Given the description of an element on the screen output the (x, y) to click on. 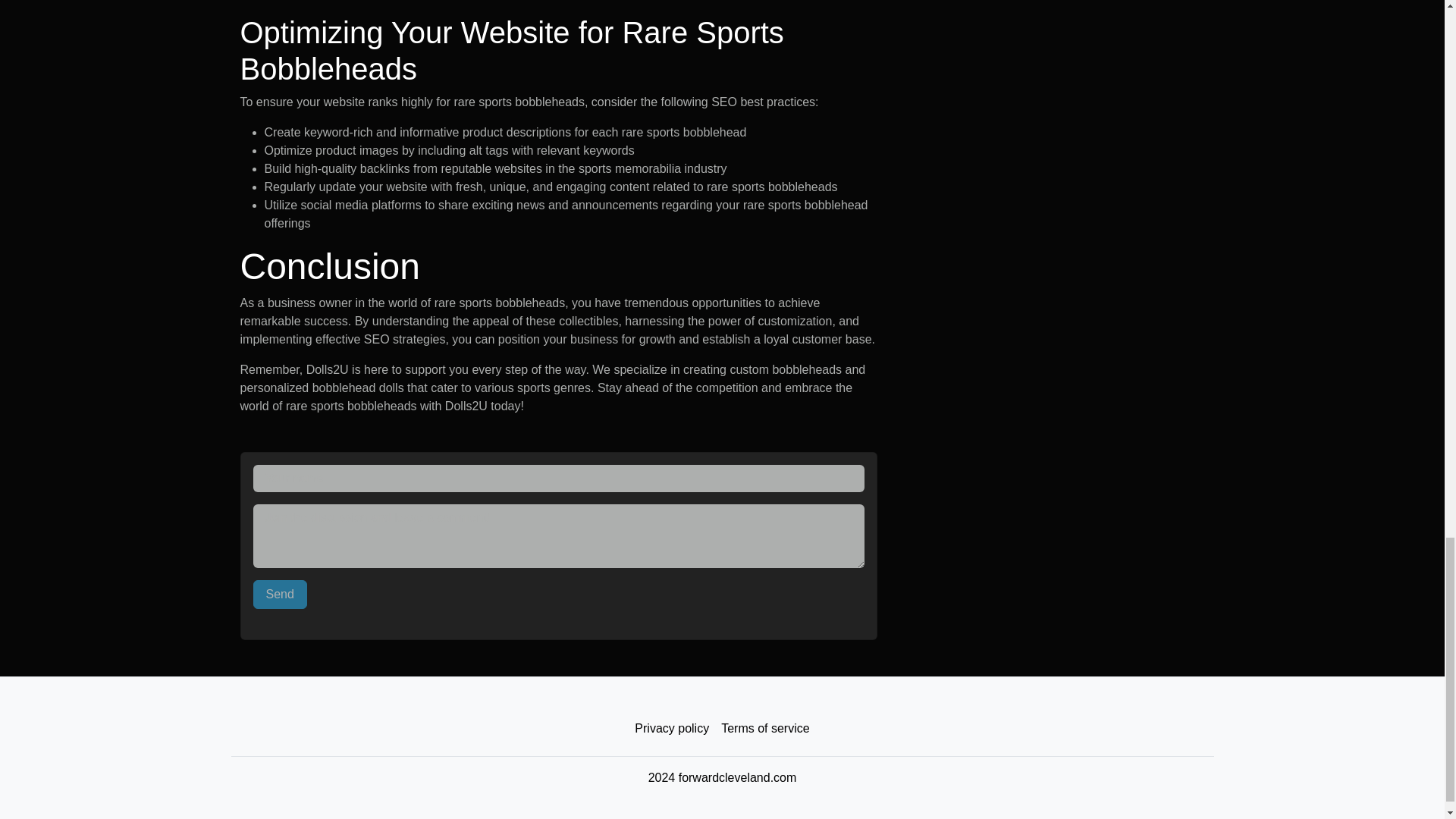
Terms of service (764, 728)
Privacy policy (671, 728)
Send (280, 594)
Send (280, 594)
